Given the description of an element on the screen output the (x, y) to click on. 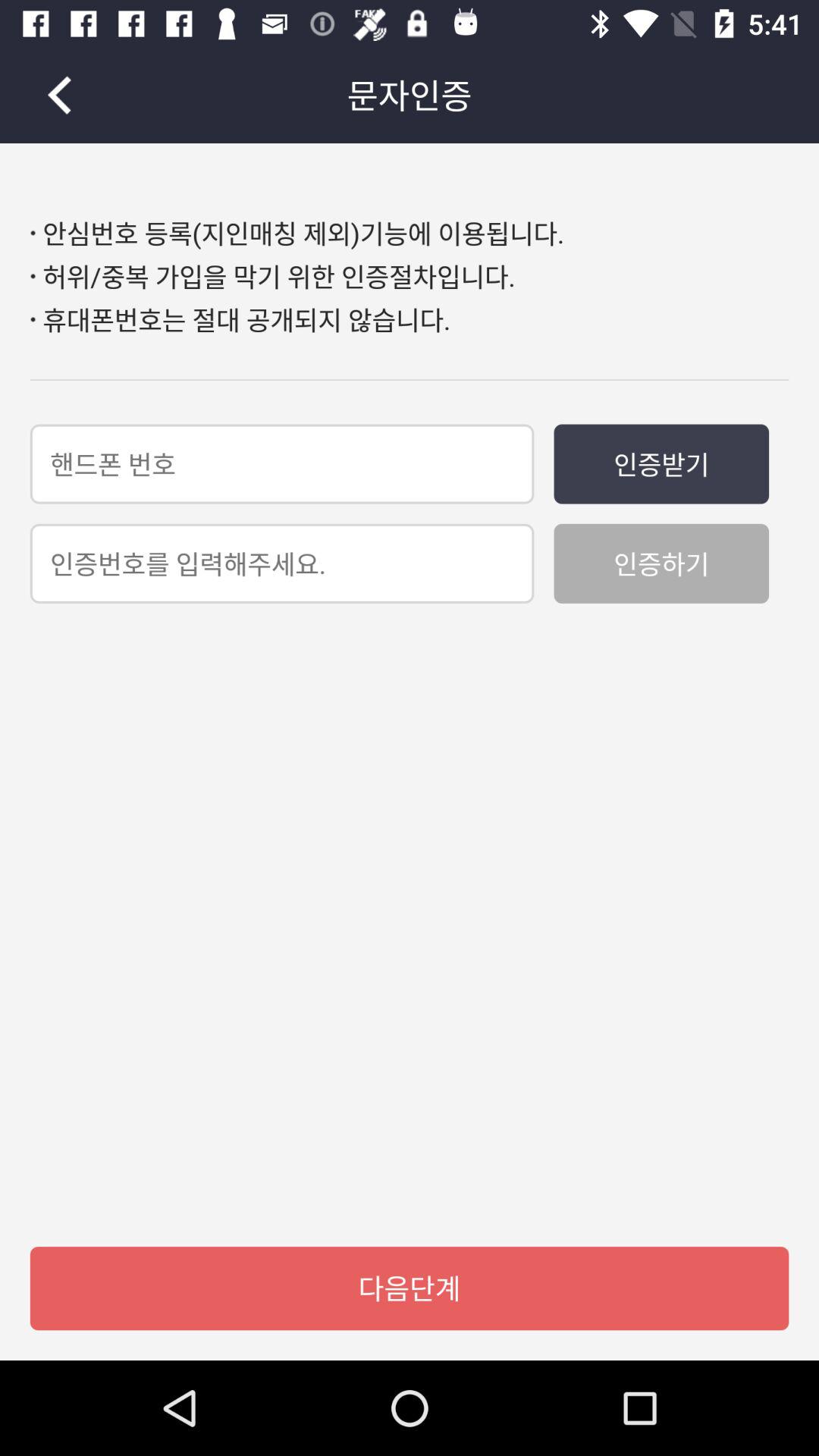
click icon on the right (660, 563)
